Given the description of an element on the screen output the (x, y) to click on. 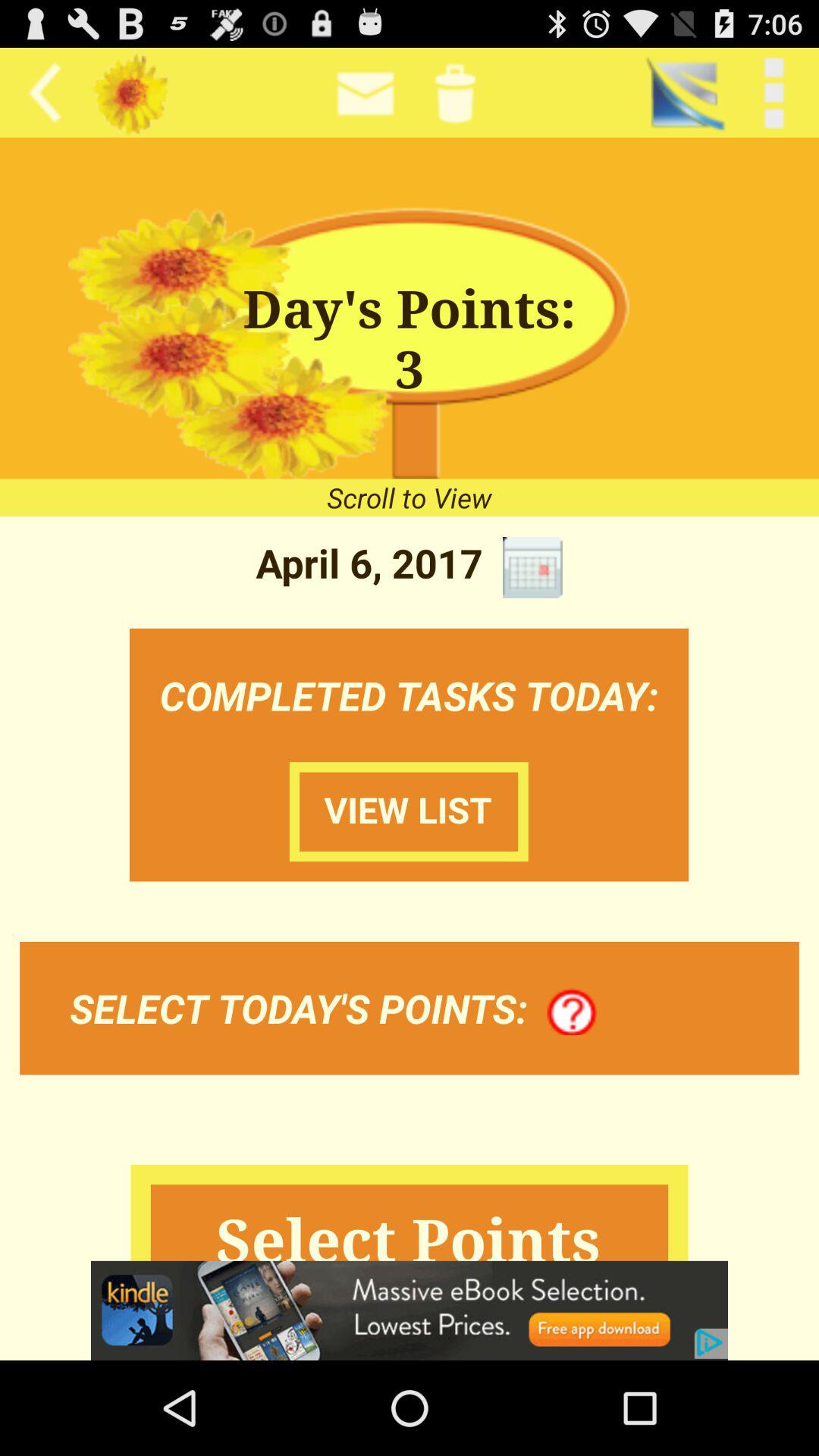
tap icon below completed tasks today: (572, 1012)
